Given the description of an element on the screen output the (x, y) to click on. 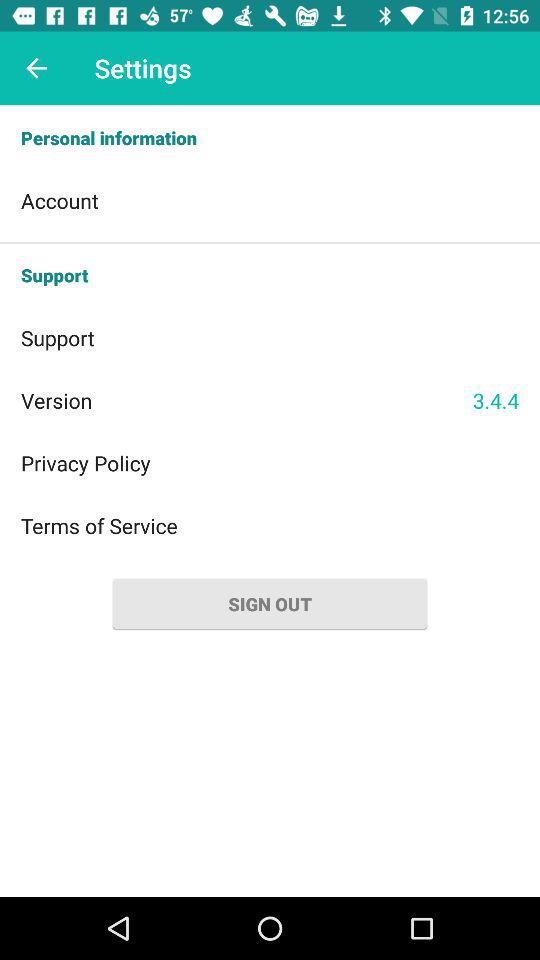
select the icon below terms of service icon (269, 603)
